Given the description of an element on the screen output the (x, y) to click on. 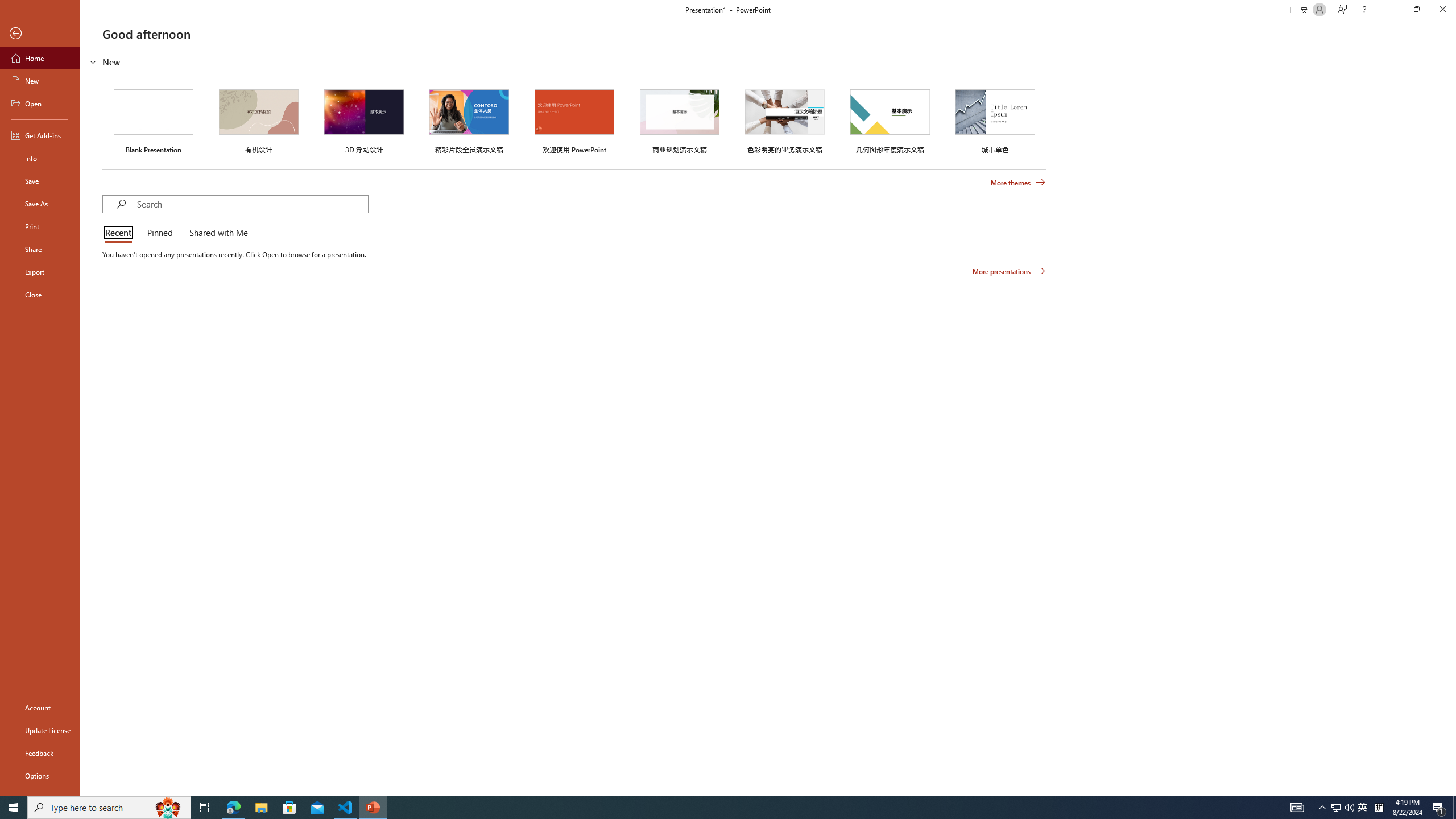
More presentations (1008, 270)
Update License (40, 730)
Search (252, 203)
Share (40, 248)
Blank Presentation (153, 119)
Info (40, 157)
Print (40, 225)
Class: NetUIScrollBar (1450, 421)
Feedback (40, 753)
New (40, 80)
Save (40, 180)
